Given the description of an element on the screen output the (x, y) to click on. 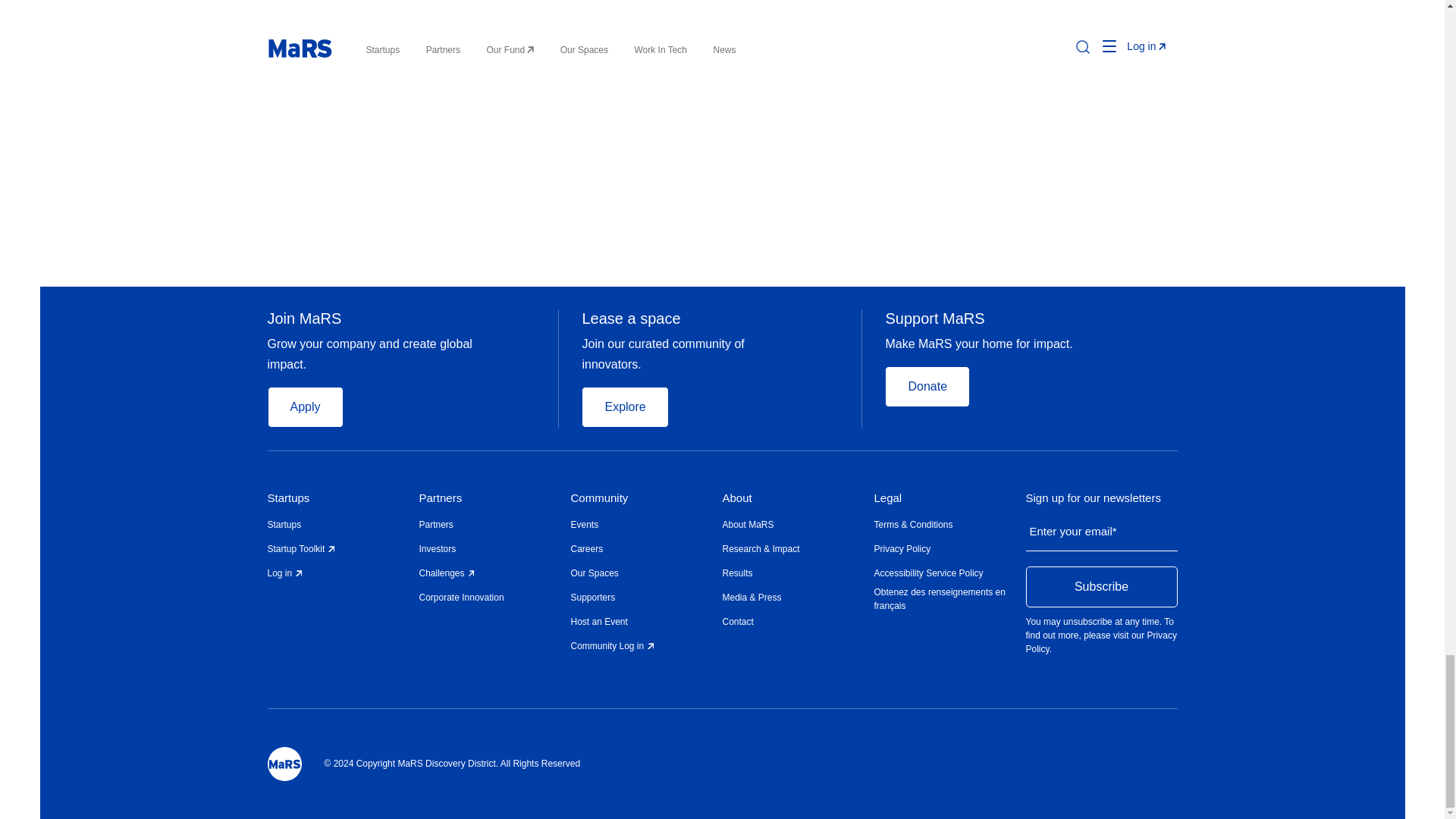
Subscribe (1100, 586)
